Given the description of an element on the screen output the (x, y) to click on. 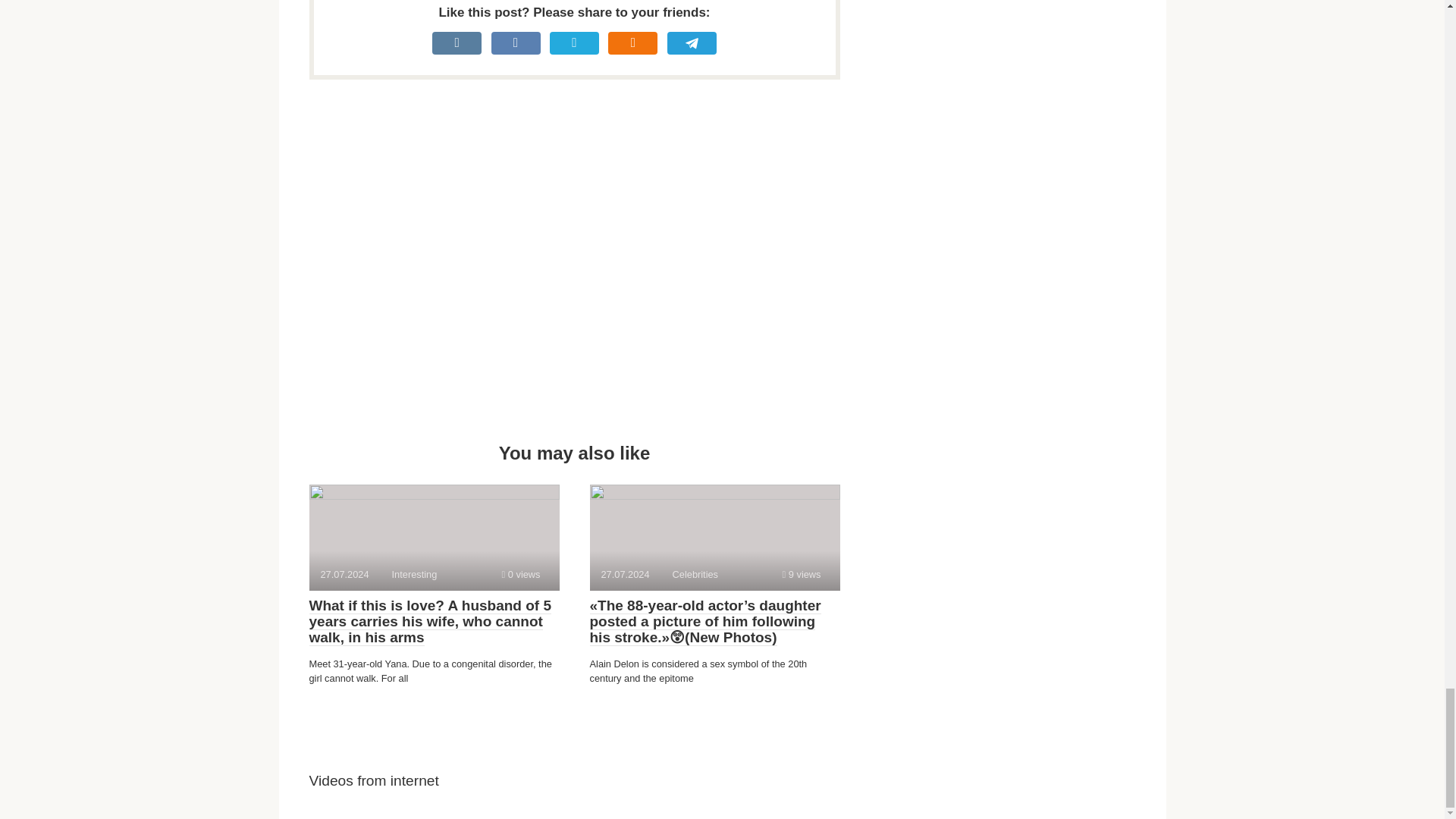
Views (714, 537)
Views (521, 573)
